Given the description of an element on the screen output the (x, y) to click on. 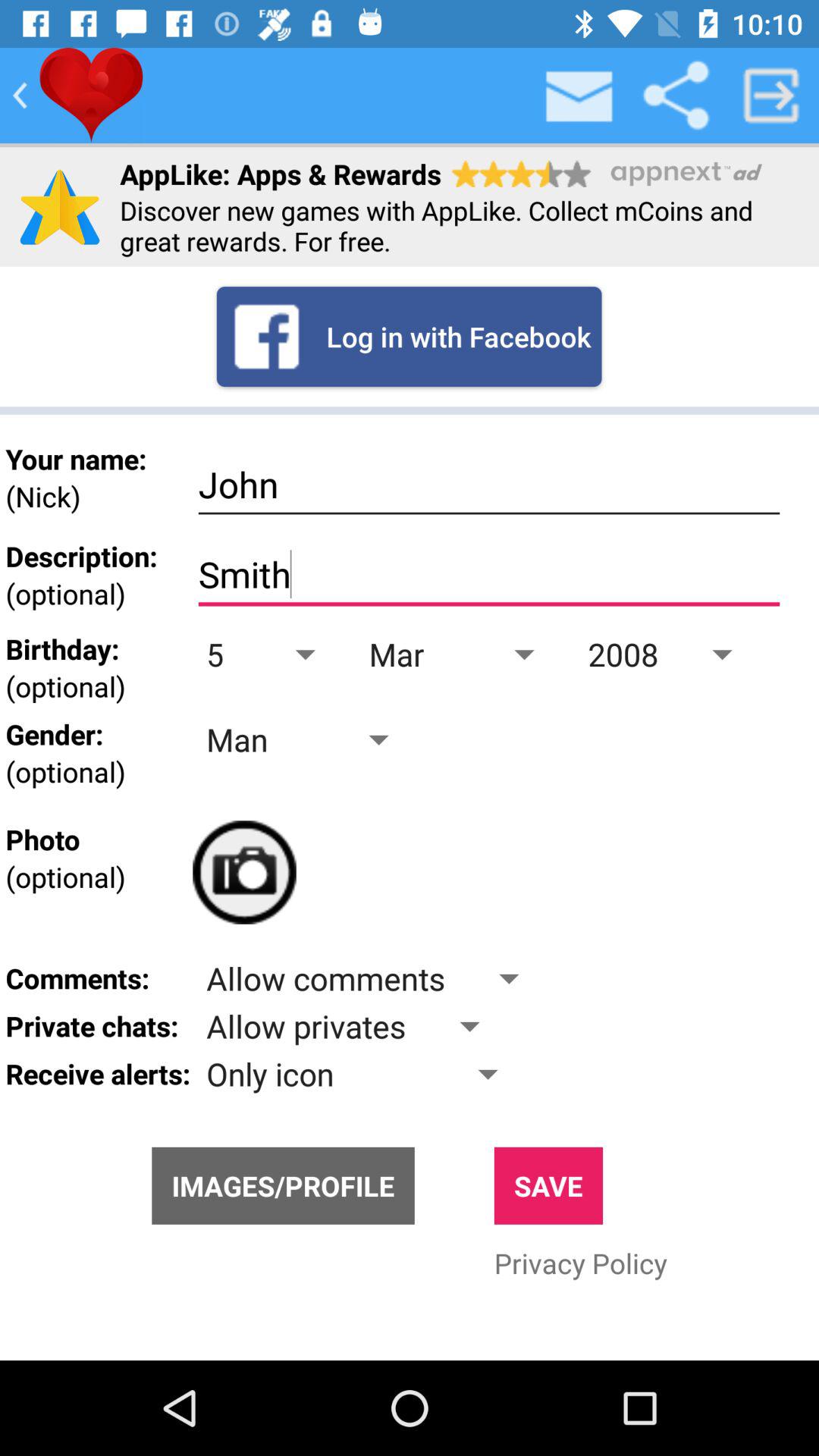
forward message (771, 95)
